Given the description of an element on the screen output the (x, y) to click on. 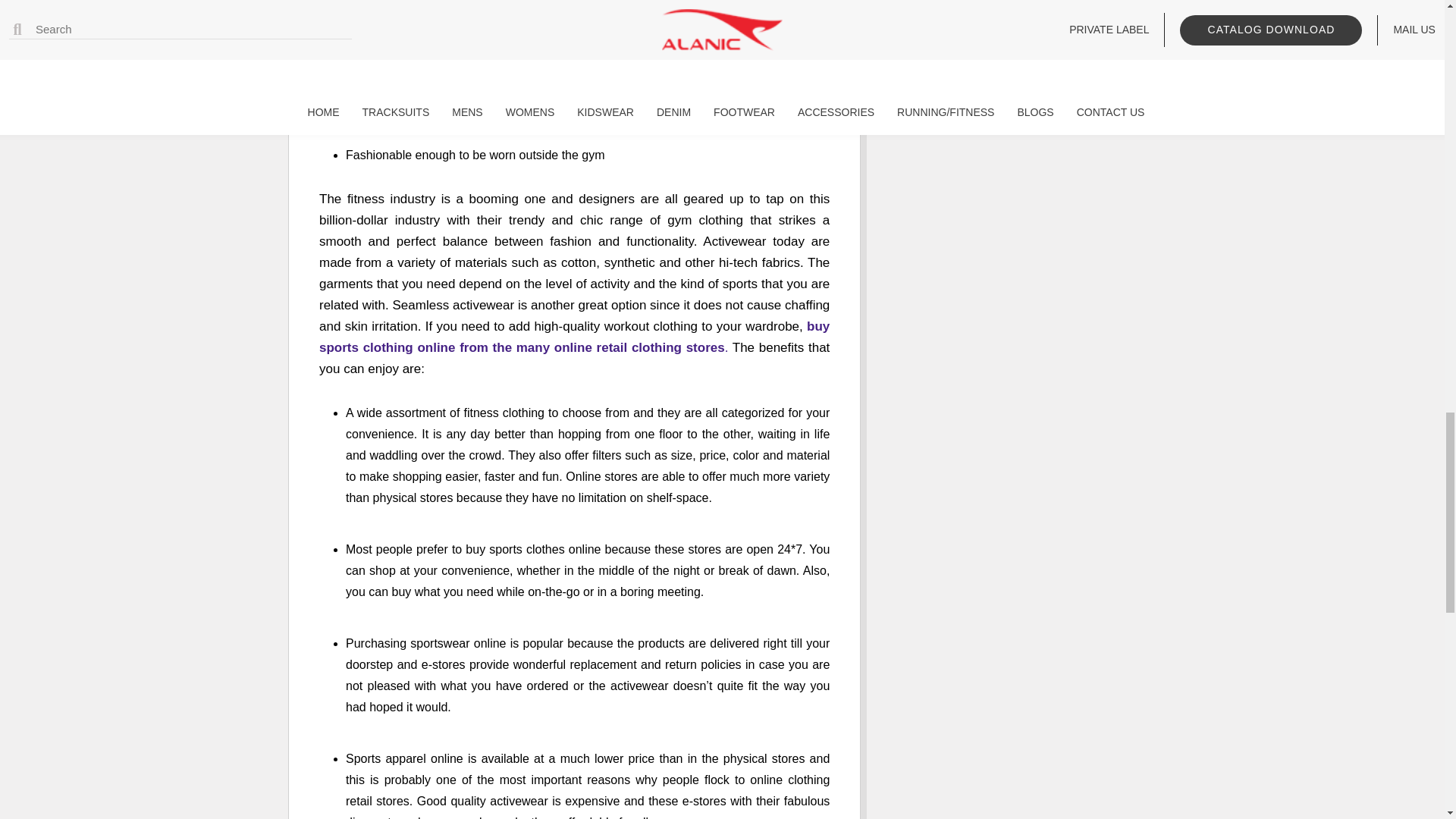
buy sports clothing (573, 336)
